Given the description of an element on the screen output the (x, y) to click on. 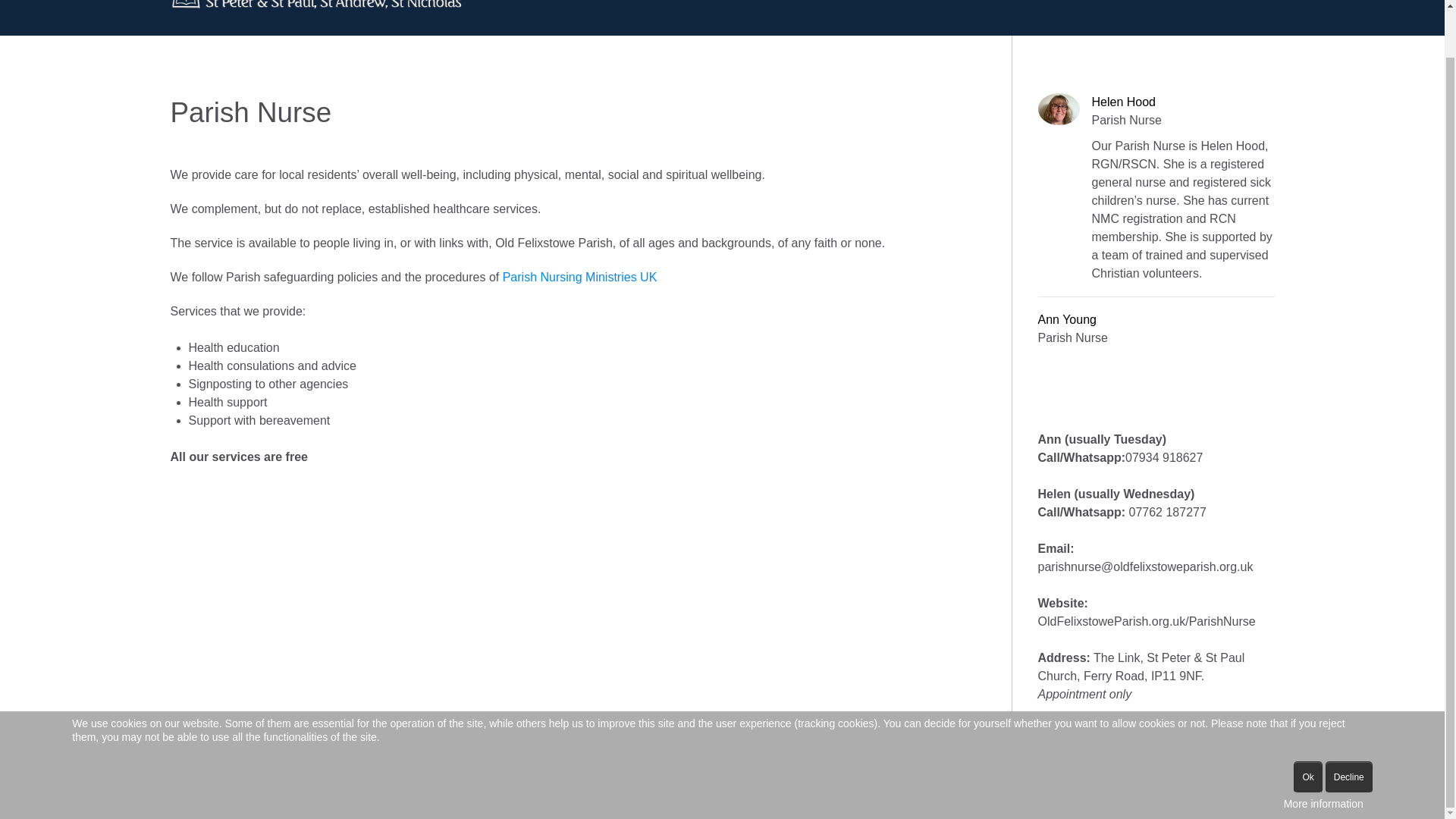
Ann Young (1071, 320)
What we believe (663, 0)
Parish Nursing Ministries UK (580, 277)
Need a website? Have a word with the Nerd (906, 782)
The Tech Nerd (906, 782)
Ann Young (1071, 320)
Parish Nurse (1173, 0)
Live (929, 0)
Safeguarding (1085, 0)
Contact (1247, 0)
Helen Hood (1183, 102)
Resources (995, 0)
Home (578, 0)
Helen Hood (1183, 102)
OFP (317, 2)
